Given the description of an element on the screen output the (x, y) to click on. 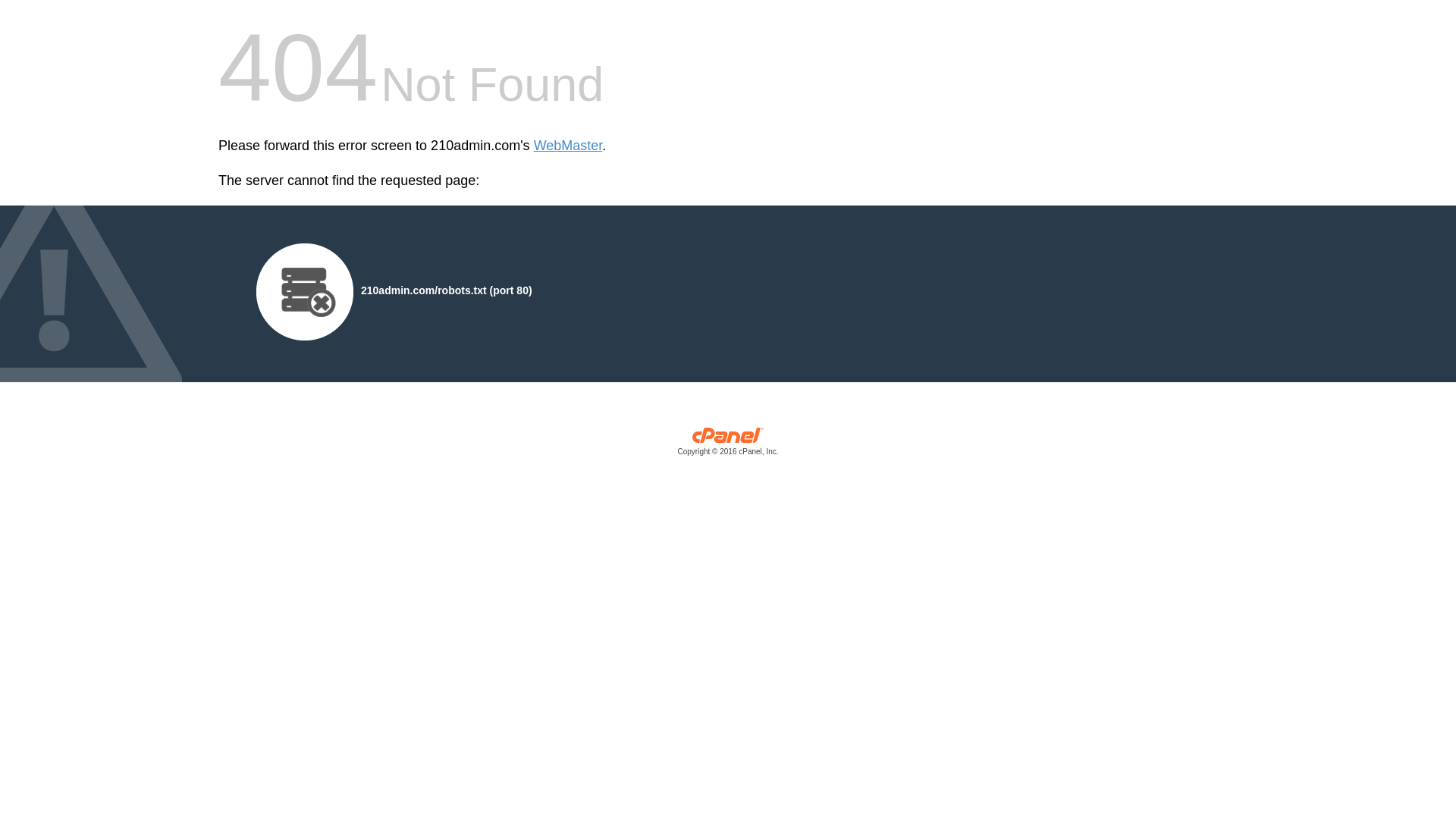
WebMaster Element type: text (567, 145)
